Given the description of an element on the screen output the (x, y) to click on. 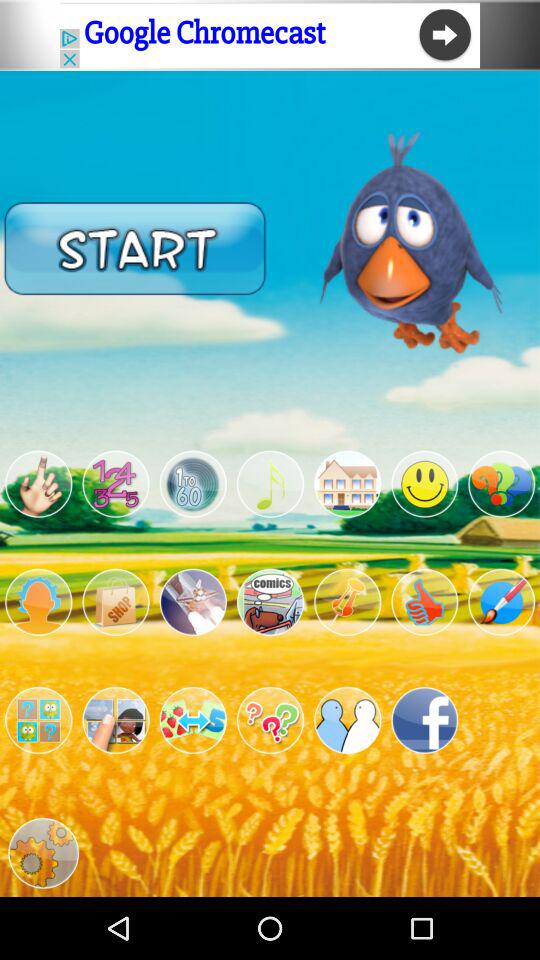
filter (38, 484)
